Given the description of an element on the screen output the (x, y) to click on. 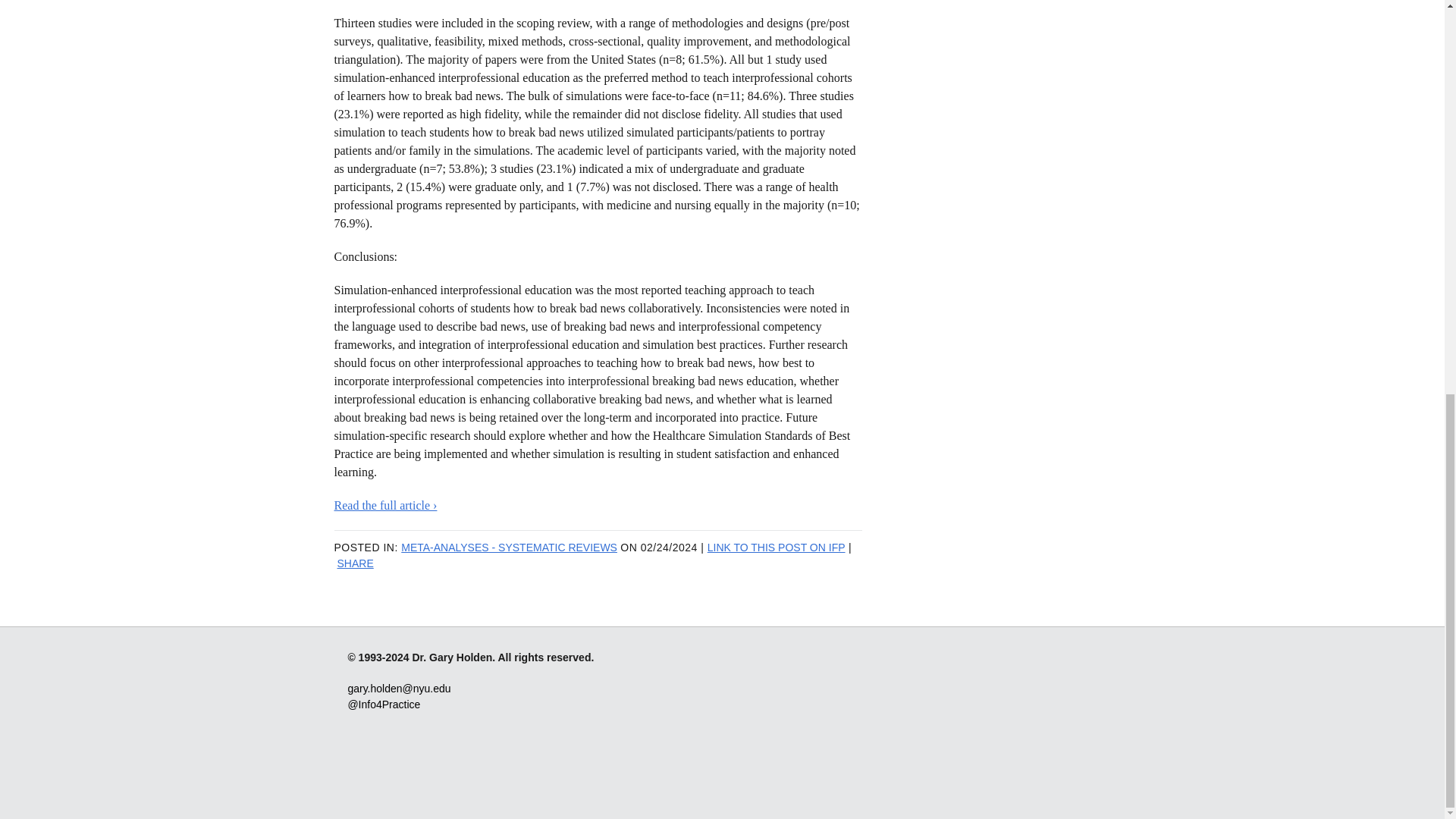
META-ANALYSES - SYSTEMATIC REVIEWS (509, 547)
SHARE (354, 563)
LINK TO THIS POST ON IFP (776, 547)
